Given the description of an element on the screen output the (x, y) to click on. 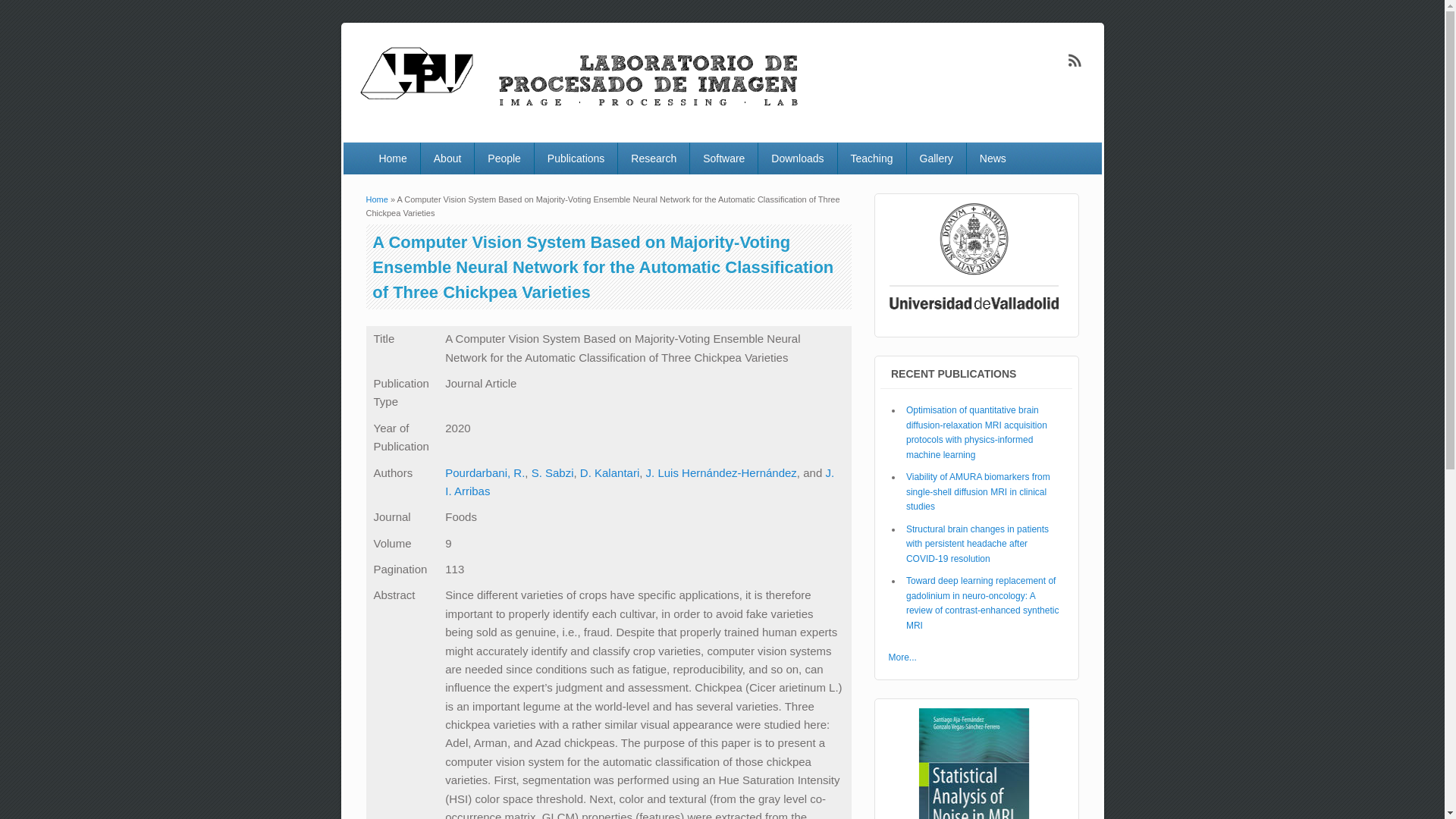
Publications (575, 158)
Gallery (936, 158)
Teaching (871, 158)
People (504, 158)
J. I. Arribas (639, 481)
News (992, 158)
Laboratorio de procesado de imagen in RSS (1074, 60)
Home (376, 198)
Research (652, 158)
Pourdarbani, R. (484, 472)
Downloads (796, 158)
S. Sabzi (552, 472)
Home (581, 110)
